Given the description of an element on the screen output the (x, y) to click on. 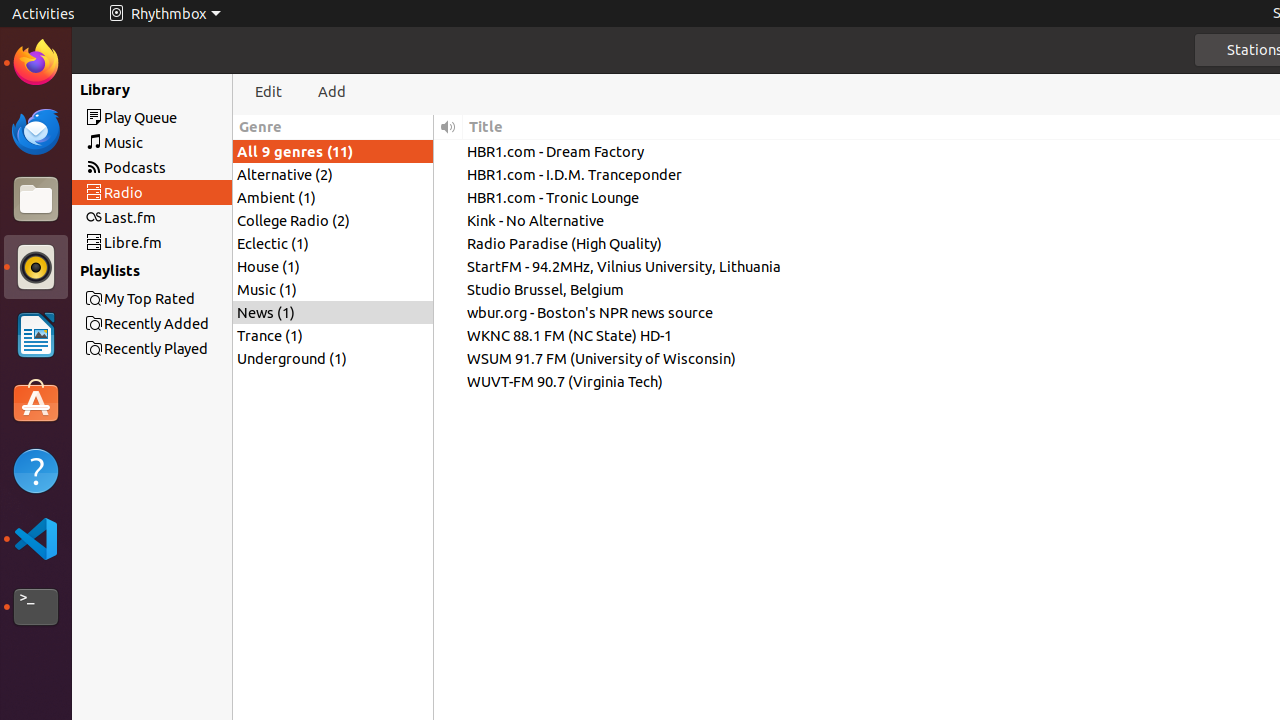
House (1) Element type: table-cell (333, 266)
luyi1 Element type: label (133, 89)
Trance (1) Element type: table-cell (333, 335)
